Given the description of an element on the screen output the (x, y) to click on. 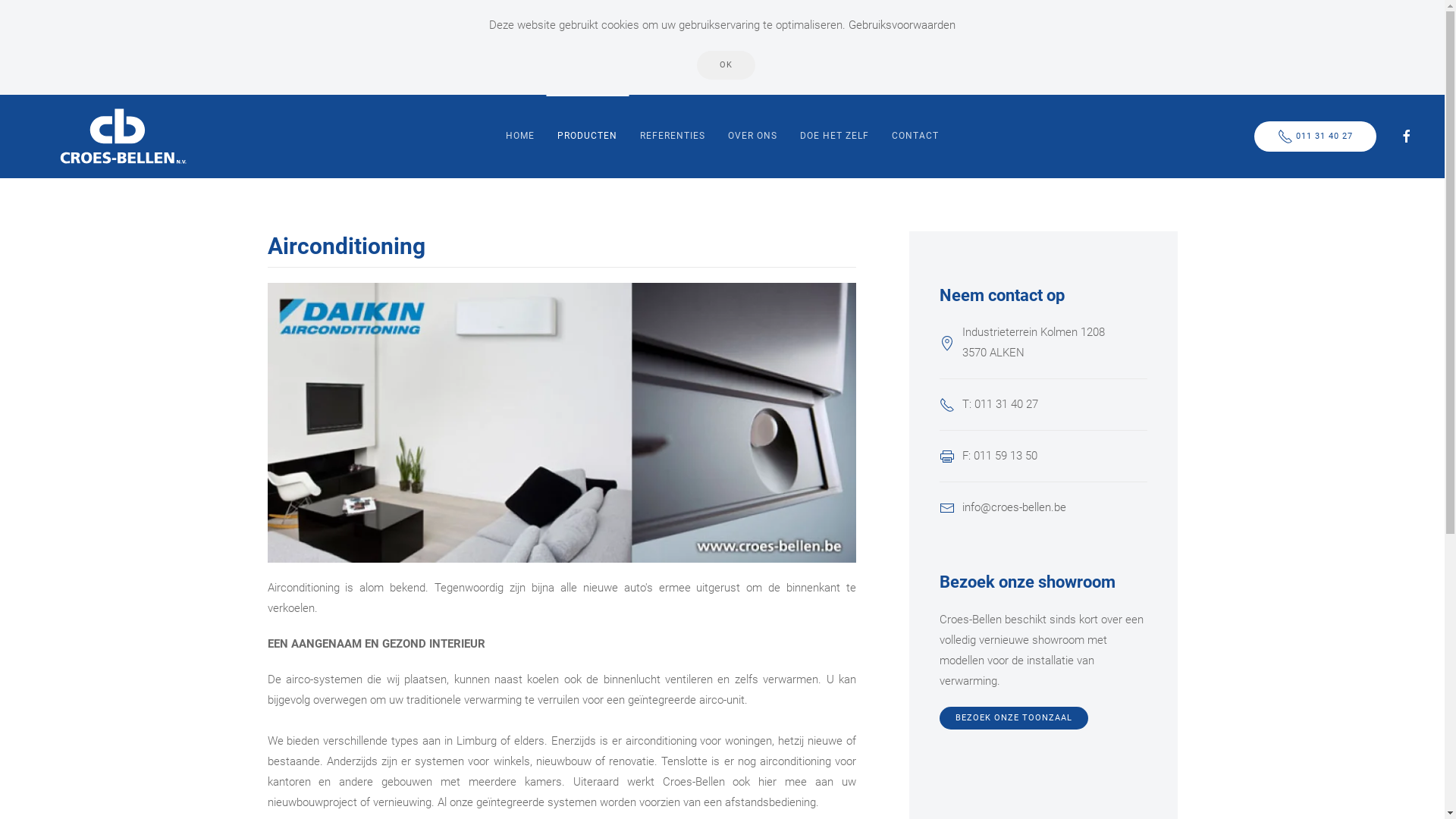
PRODUCTEN Element type: text (587, 136)
DOE HET ZELF Element type: text (834, 136)
BEZOEK ONZE TOONZAAL Element type: text (1013, 717)
Gebruiksvoorwaarden Element type: text (901, 24)
011 31 40 27 Element type: text (1315, 136)
CONTACT Element type: text (915, 136)
info@croes-bellen.be Element type: text (1014, 507)
OVER ONS Element type: text (752, 136)
REFERENTIES Element type: text (672, 136)
HOME Element type: text (520, 136)
OK Element type: text (725, 64)
